Given the description of an element on the screen output the (x, y) to click on. 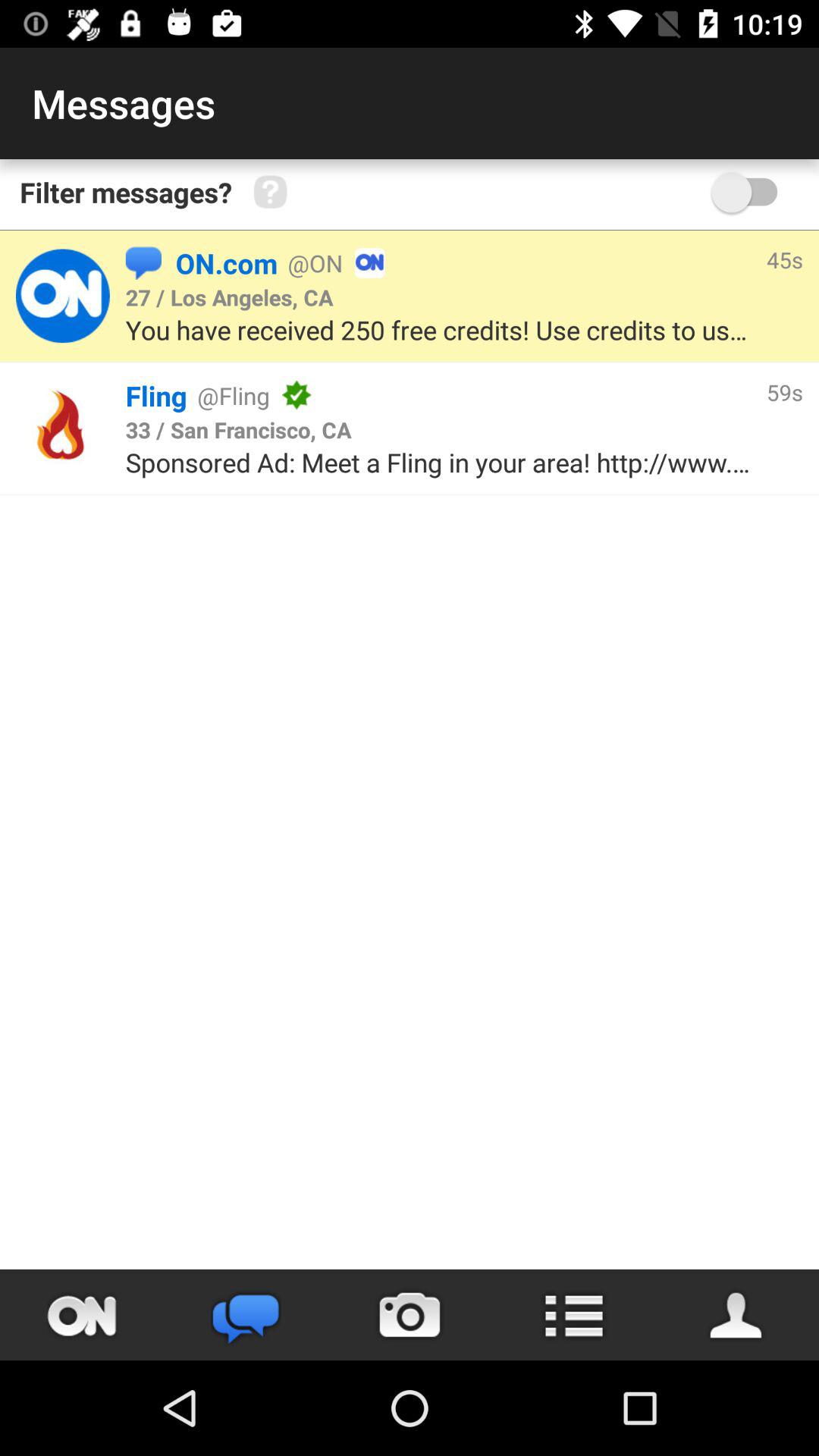
click icon above the you have received (229, 297)
